Given the description of an element on the screen output the (x, y) to click on. 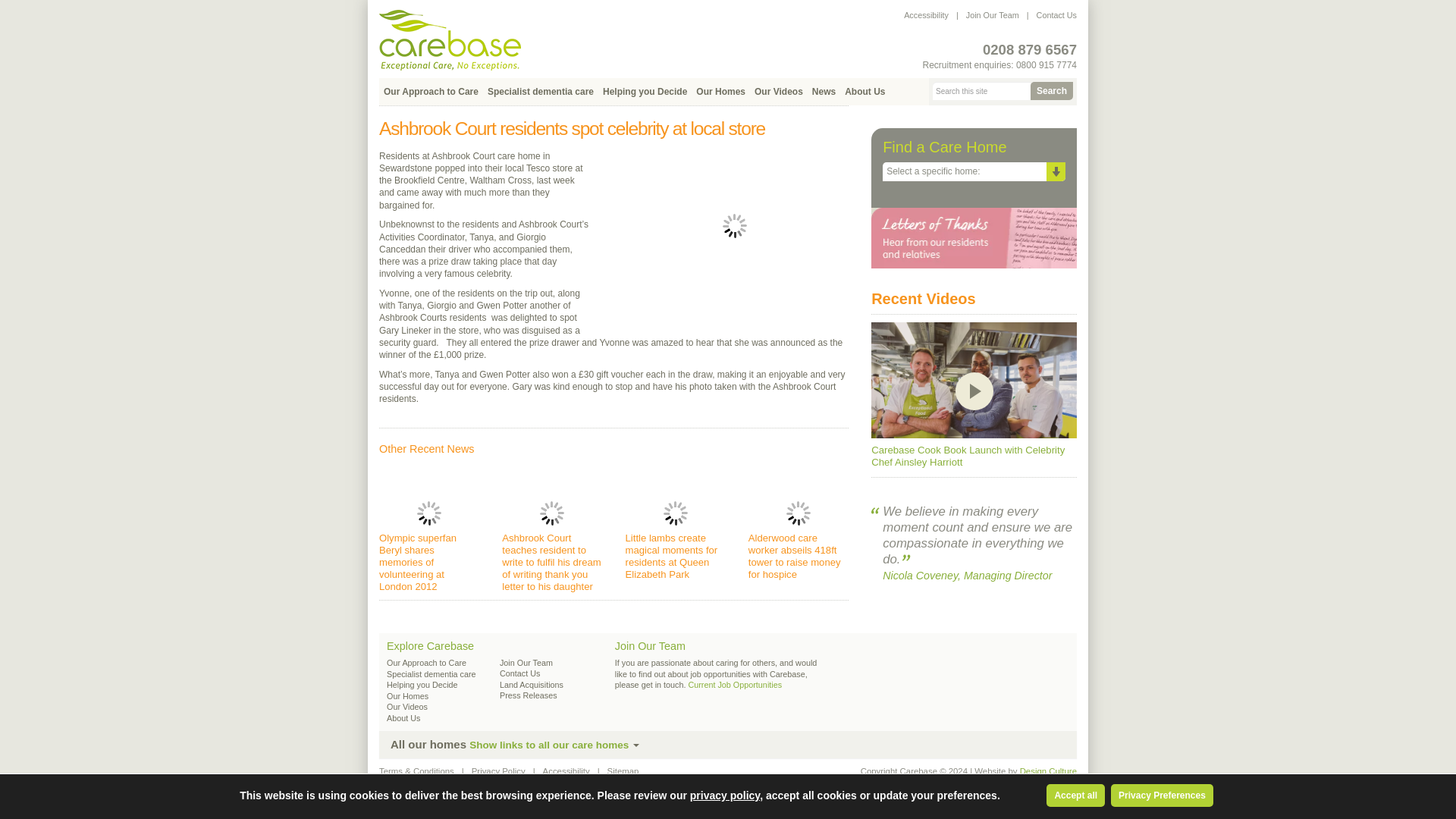
About Us (864, 91)
Join Our Team (1001, 15)
Specialist dementia care (431, 673)
Our Approach to Care (426, 662)
Select a specific home: (973, 171)
Search for: (981, 90)
Our Videos (778, 91)
Letters of Thanks (973, 236)
Accessibility (935, 15)
Our Approach to Care (430, 91)
News (824, 91)
